Given the description of an element on the screen output the (x, y) to click on. 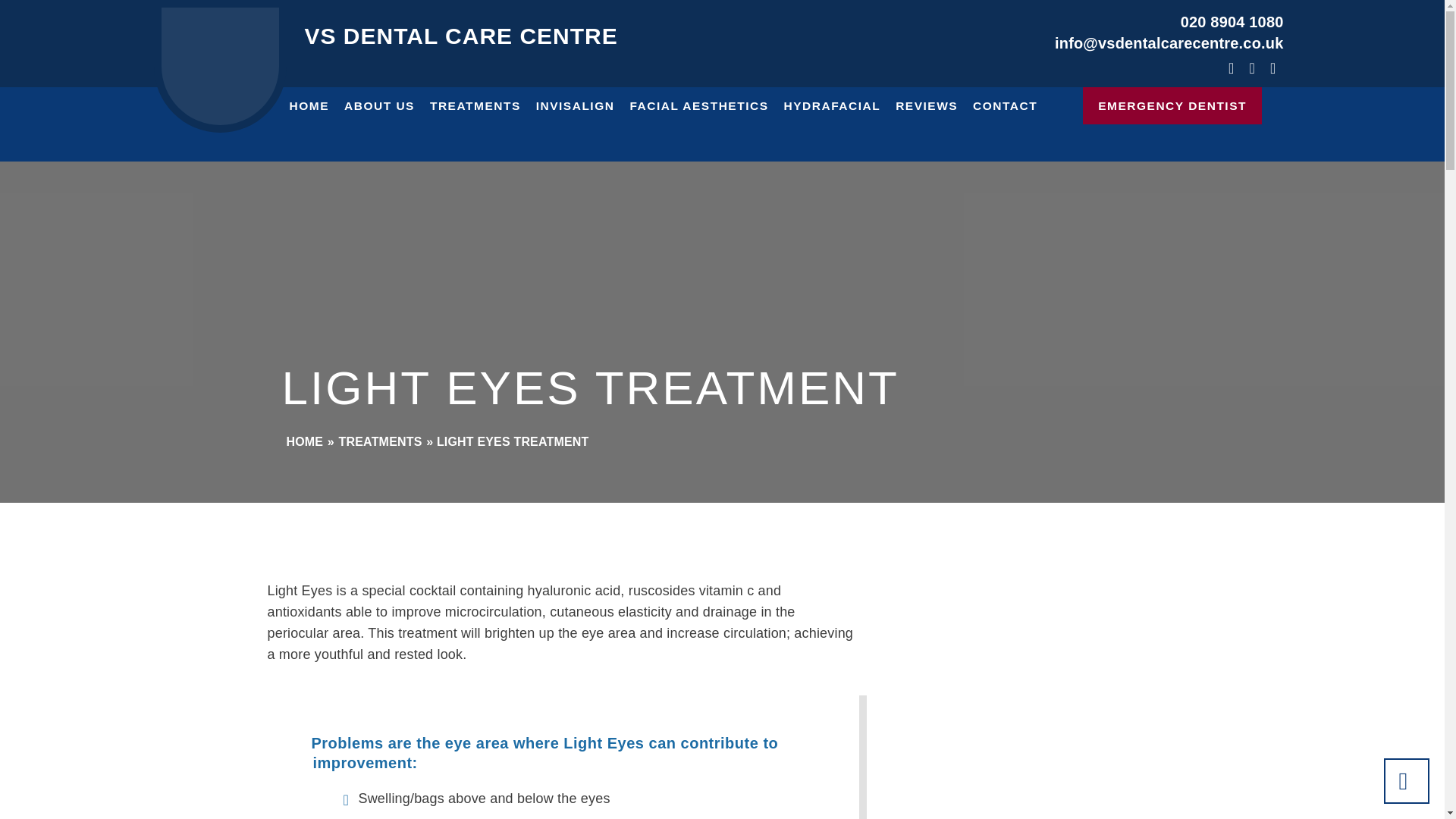
FACIAL AESTHETICS (698, 105)
TREATMENTS (475, 105)
REVIEWS (926, 105)
HYDRAFACIAL (832, 105)
ABOUT US (379, 105)
INVISALIGN (575, 105)
HOME (309, 105)
020 8904 1080 (1232, 21)
